Given the description of an element on the screen output the (x, y) to click on. 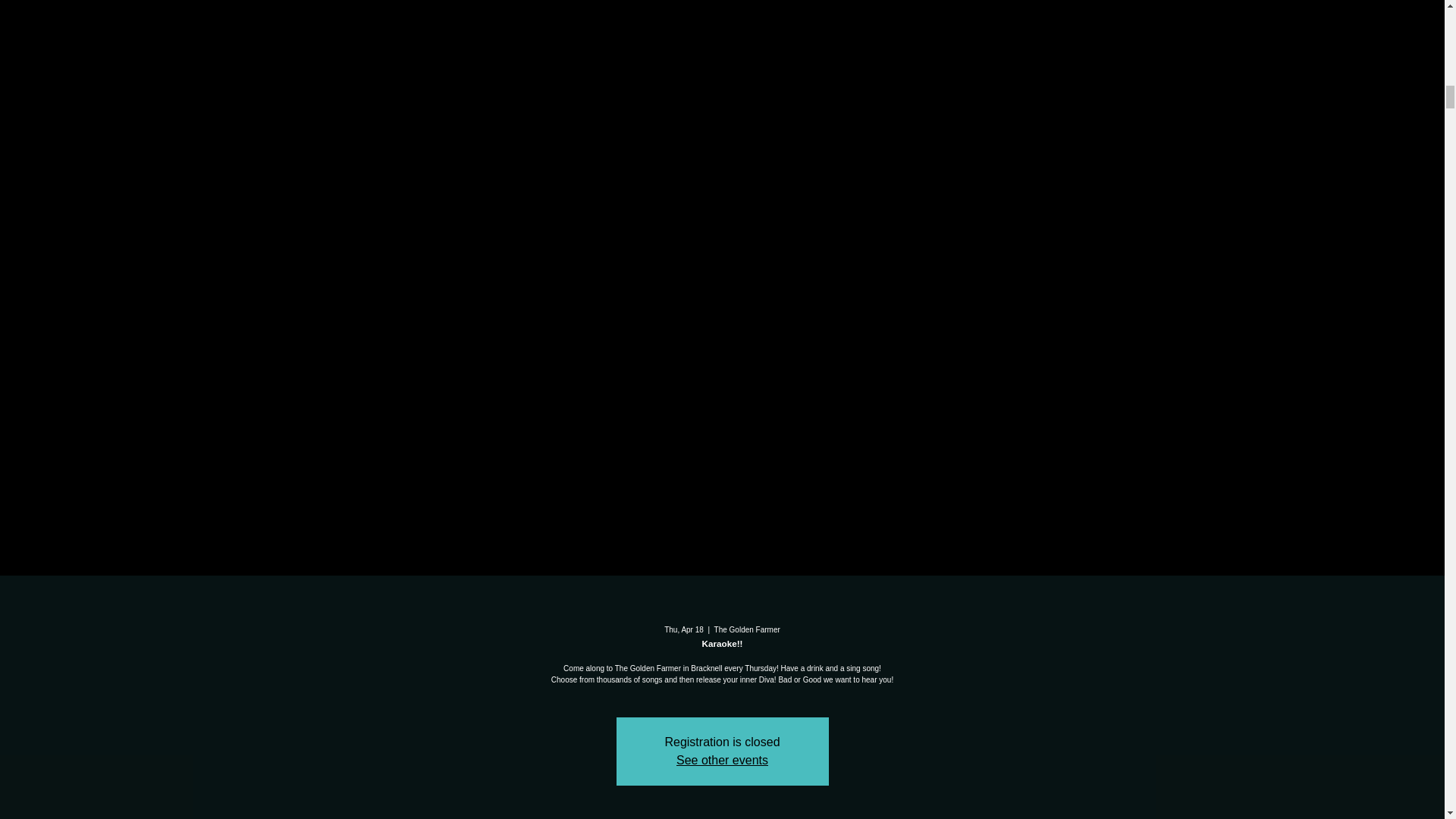
See other events (722, 759)
